Given the description of an element on the screen output the (x, y) to click on. 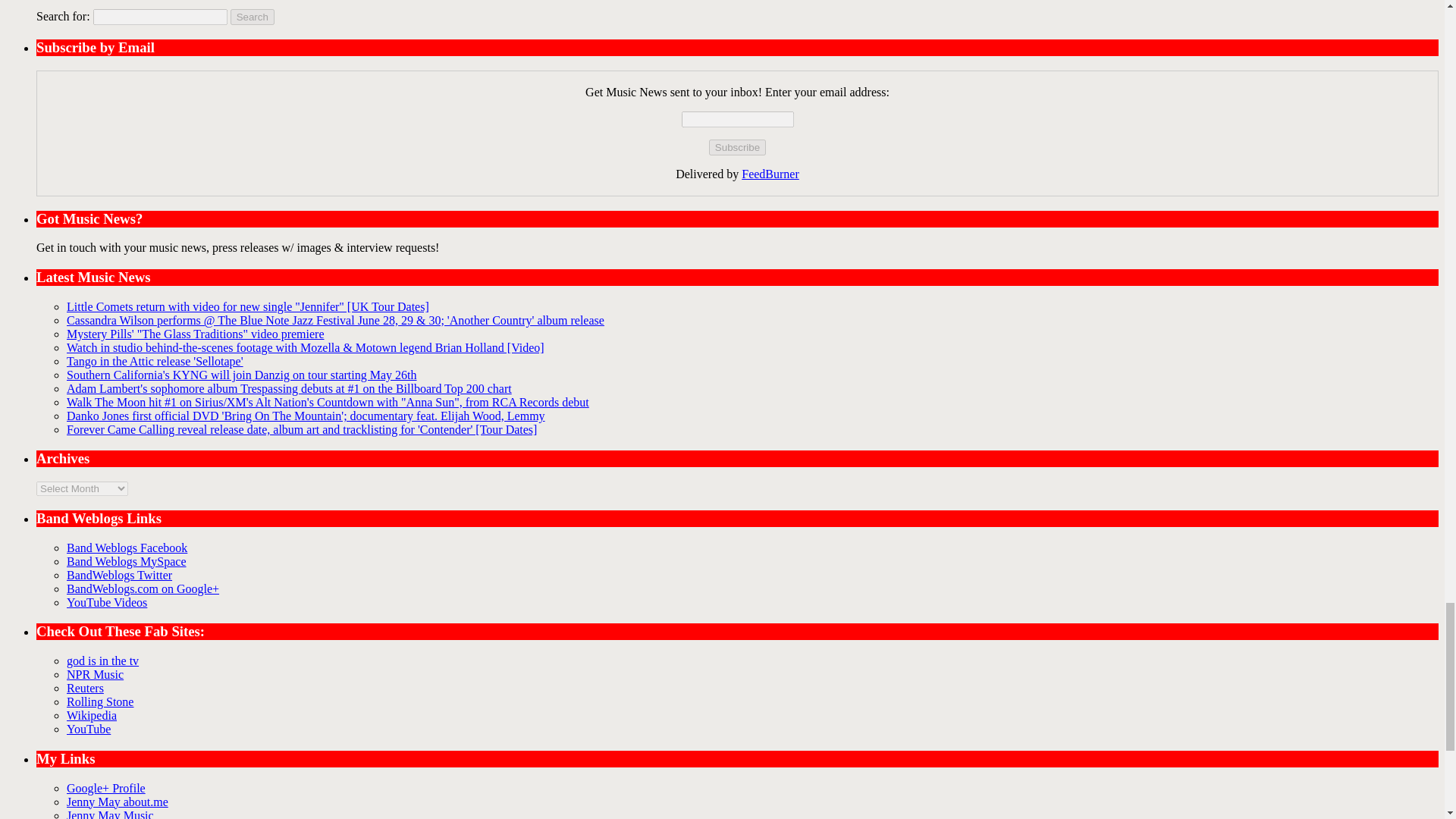
Subscribe (737, 147)
Search (252, 17)
